Given the description of an element on the screen output the (x, y) to click on. 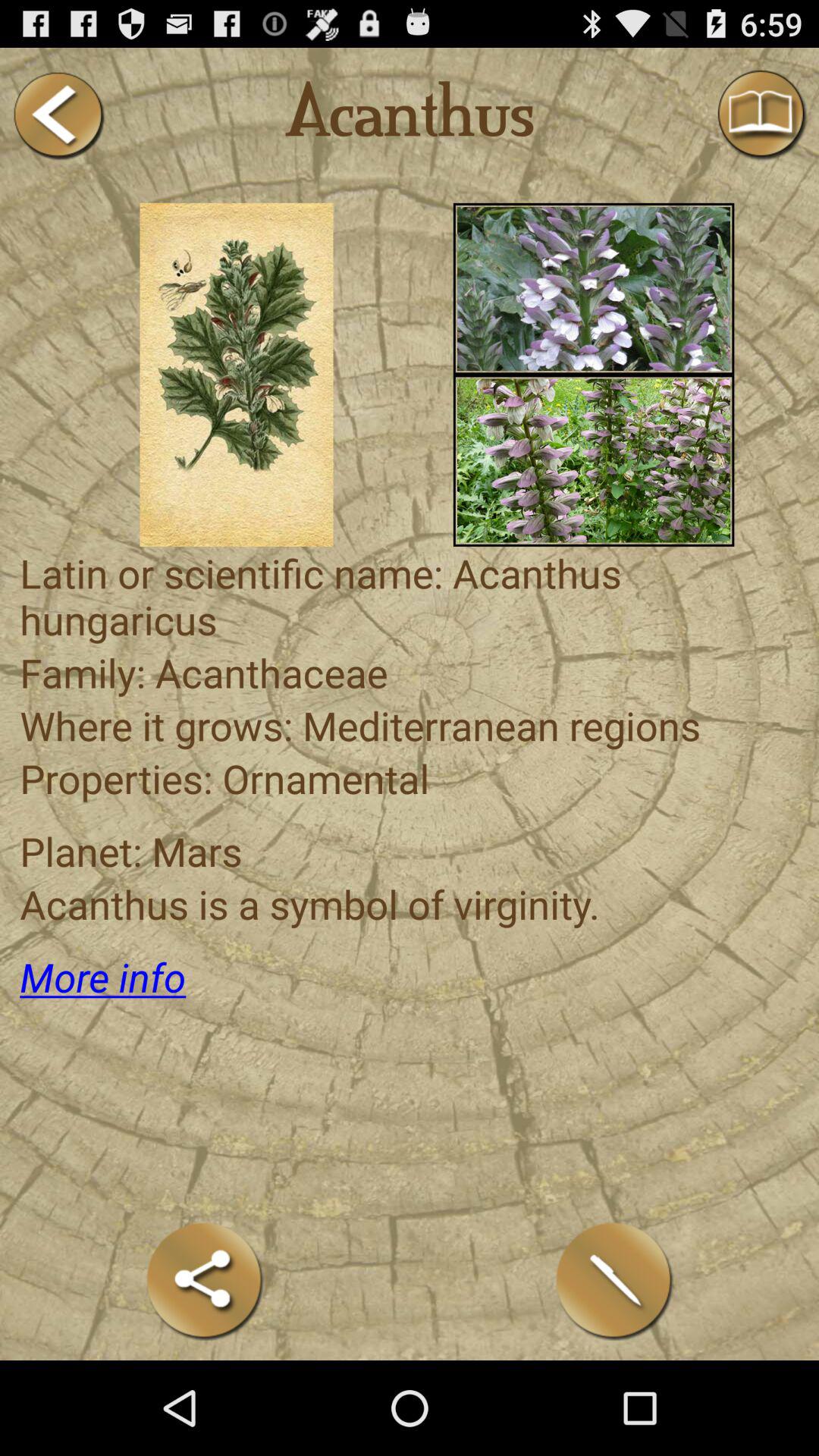
select flower (593, 288)
